Given the description of an element on the screen output the (x, y) to click on. 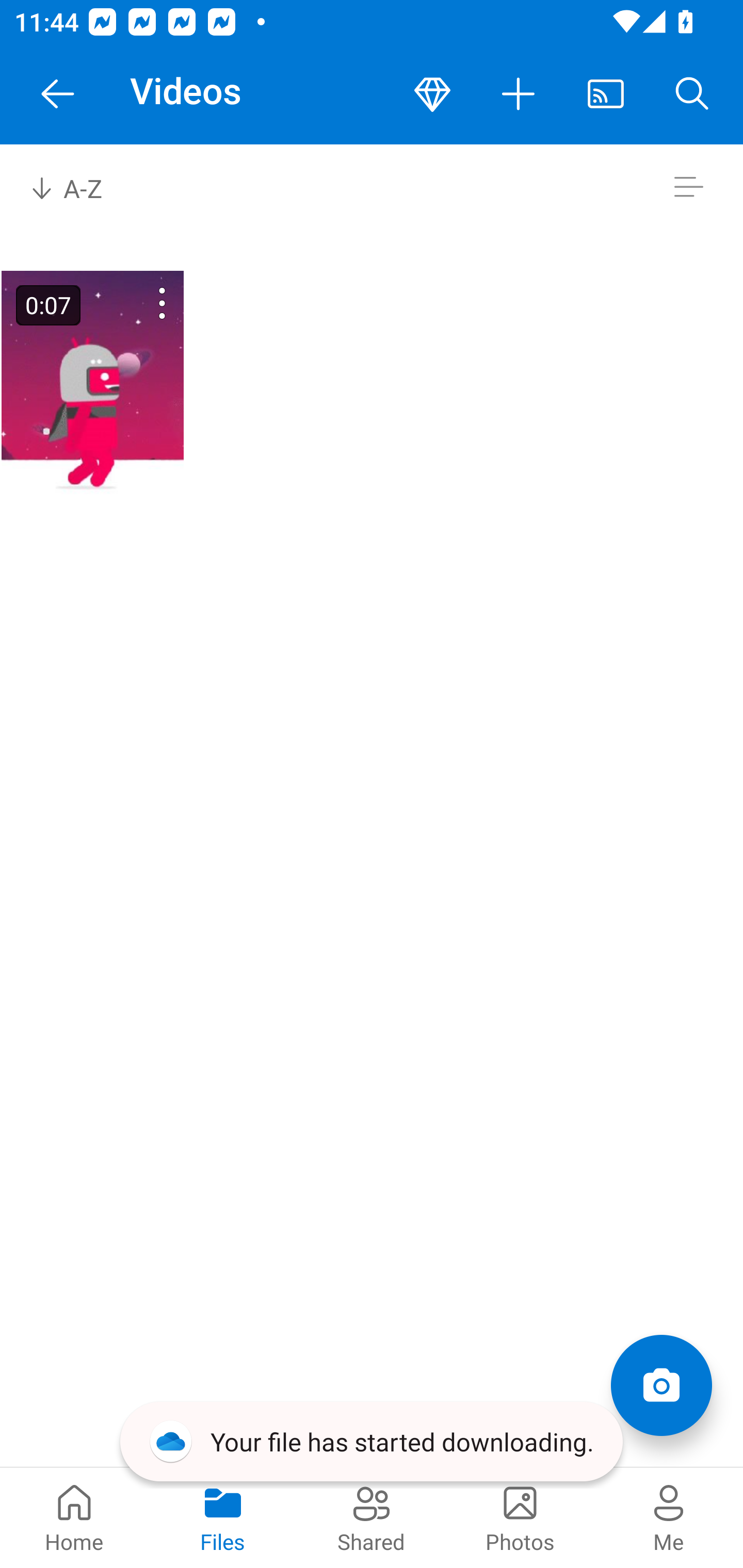
Navigate Up (57, 93)
Cast. Disconnected (605, 93)
Premium button (432, 93)
More actions button (518, 93)
Search button (692, 93)
A-Z Sort by combo box, sort by name, A to Z (80, 187)
Switch to list view (688, 187)
VID_20240428_112341 commands (136, 303)
Add items Scan (660, 1385)
Home pivot Home (74, 1517)
Shared pivot Shared (371, 1517)
Photos pivot Photos (519, 1517)
Me pivot Me (668, 1517)
